Given the description of an element on the screen output the (x, y) to click on. 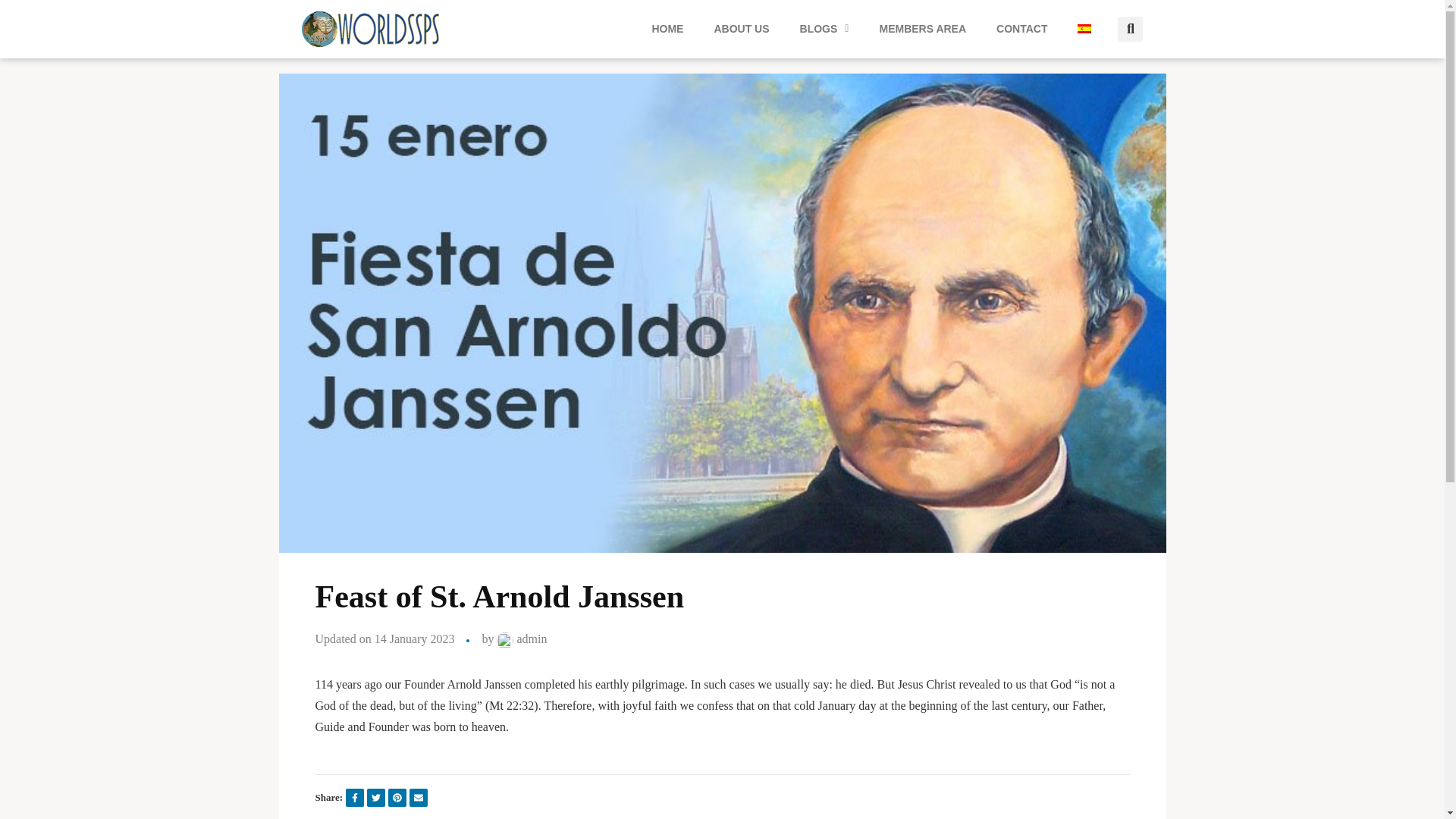
HOME (667, 28)
MEMBERS AREA (922, 28)
ABOUT US (741, 28)
CONTACT (1021, 28)
BLOGS (824, 28)
